Given the description of an element on the screen output the (x, y) to click on. 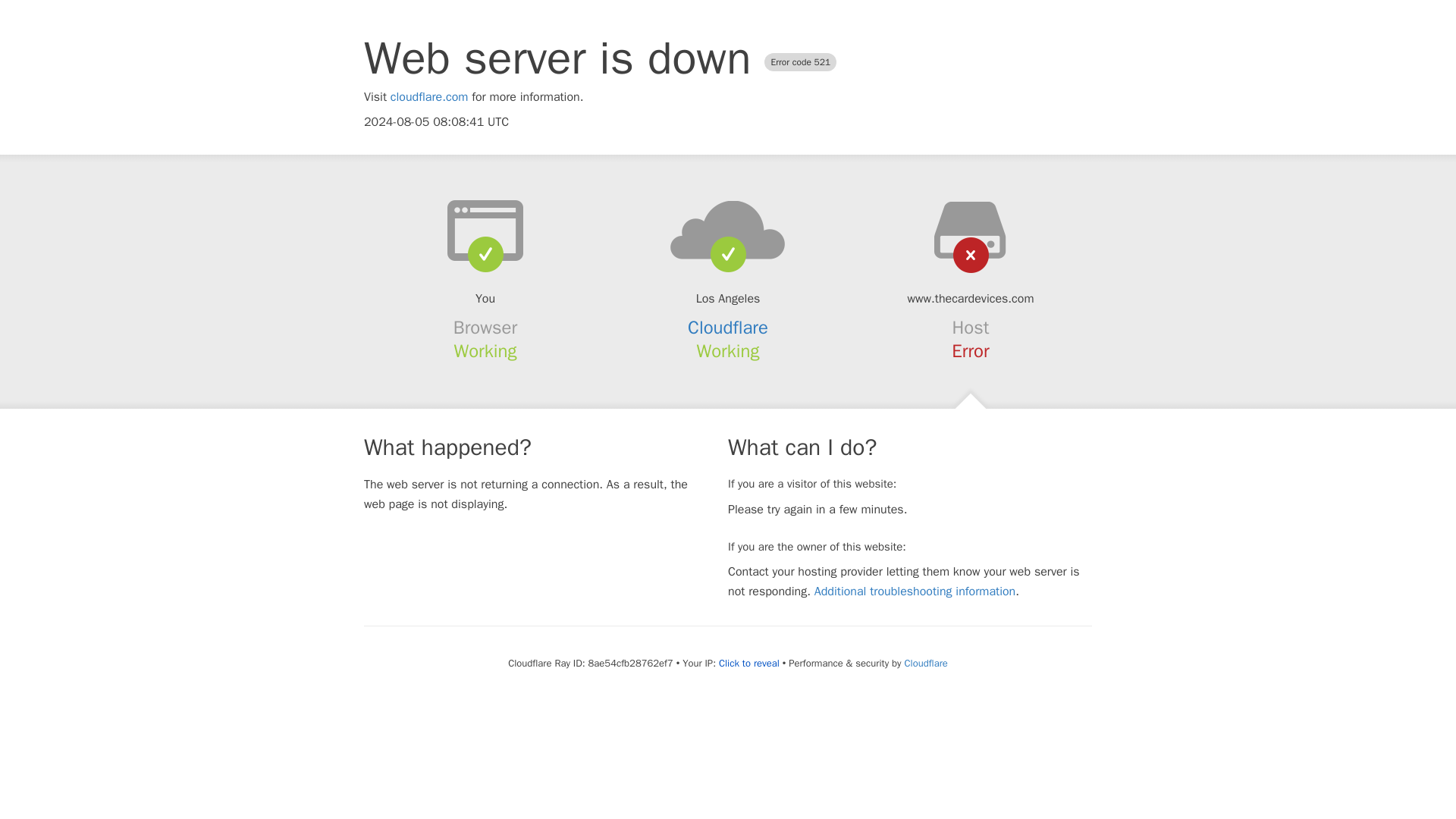
Click to reveal (748, 663)
Additional troubleshooting information (913, 590)
cloudflare.com (429, 96)
Cloudflare (727, 327)
Cloudflare (925, 662)
